Given the description of an element on the screen output the (x, y) to click on. 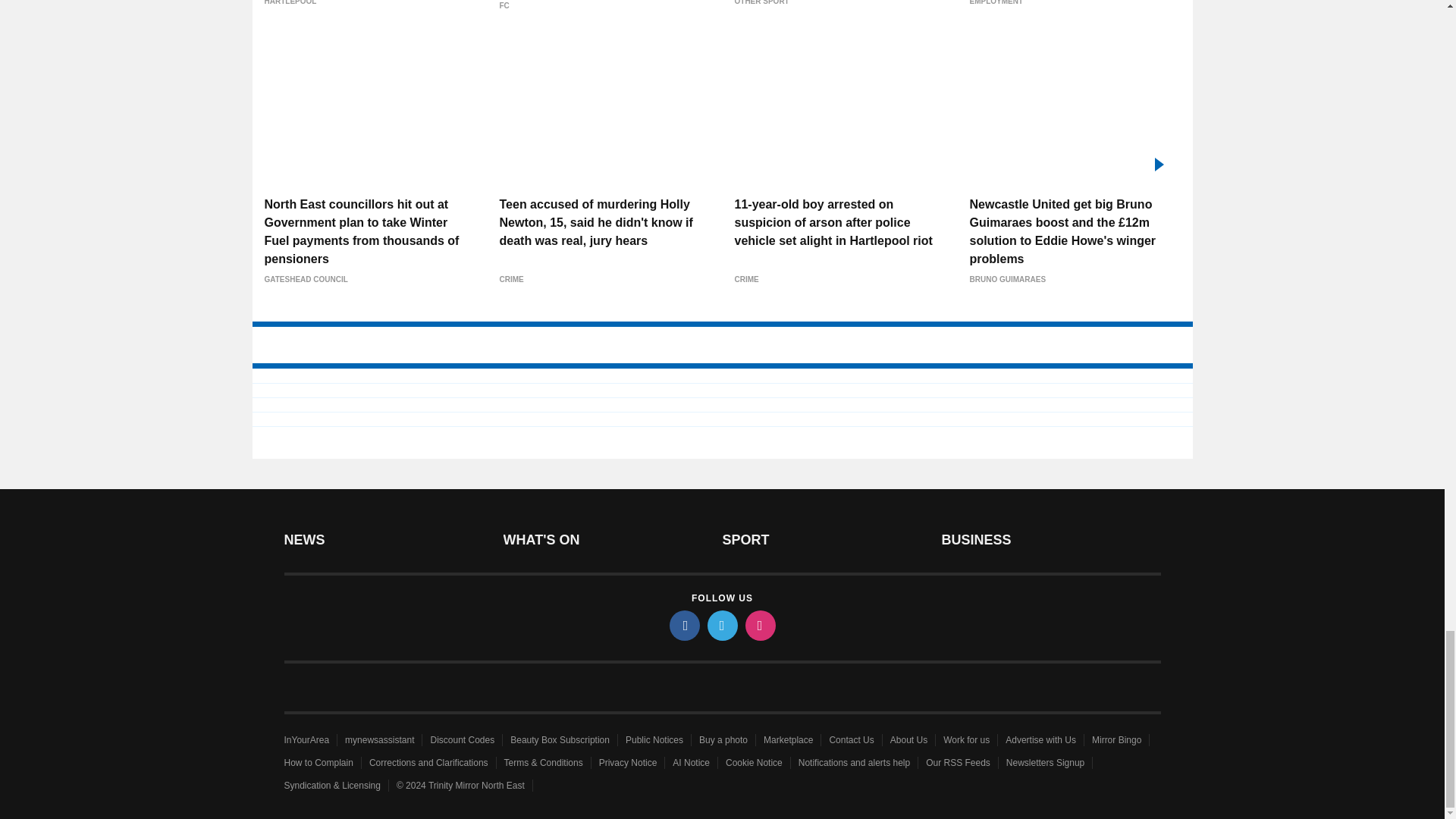
facebook (683, 625)
twitter (721, 625)
instagram (759, 625)
